Given the description of an element on the screen output the (x, y) to click on. 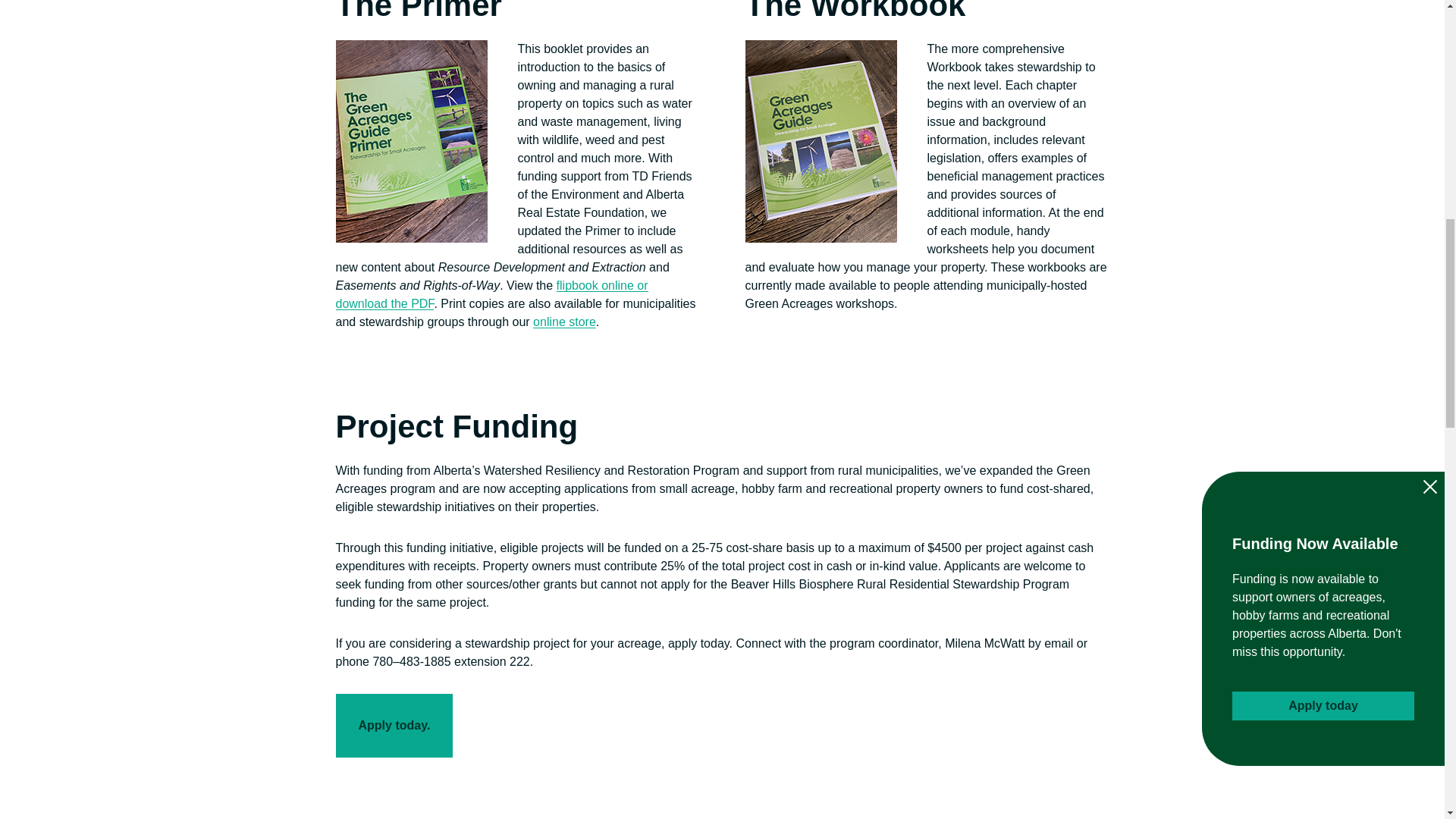
Green Acreages Primer (490, 294)
Apply today.  (393, 725)
Land Stewardship Centre online store (563, 321)
